Given the description of an element on the screen output the (x, y) to click on. 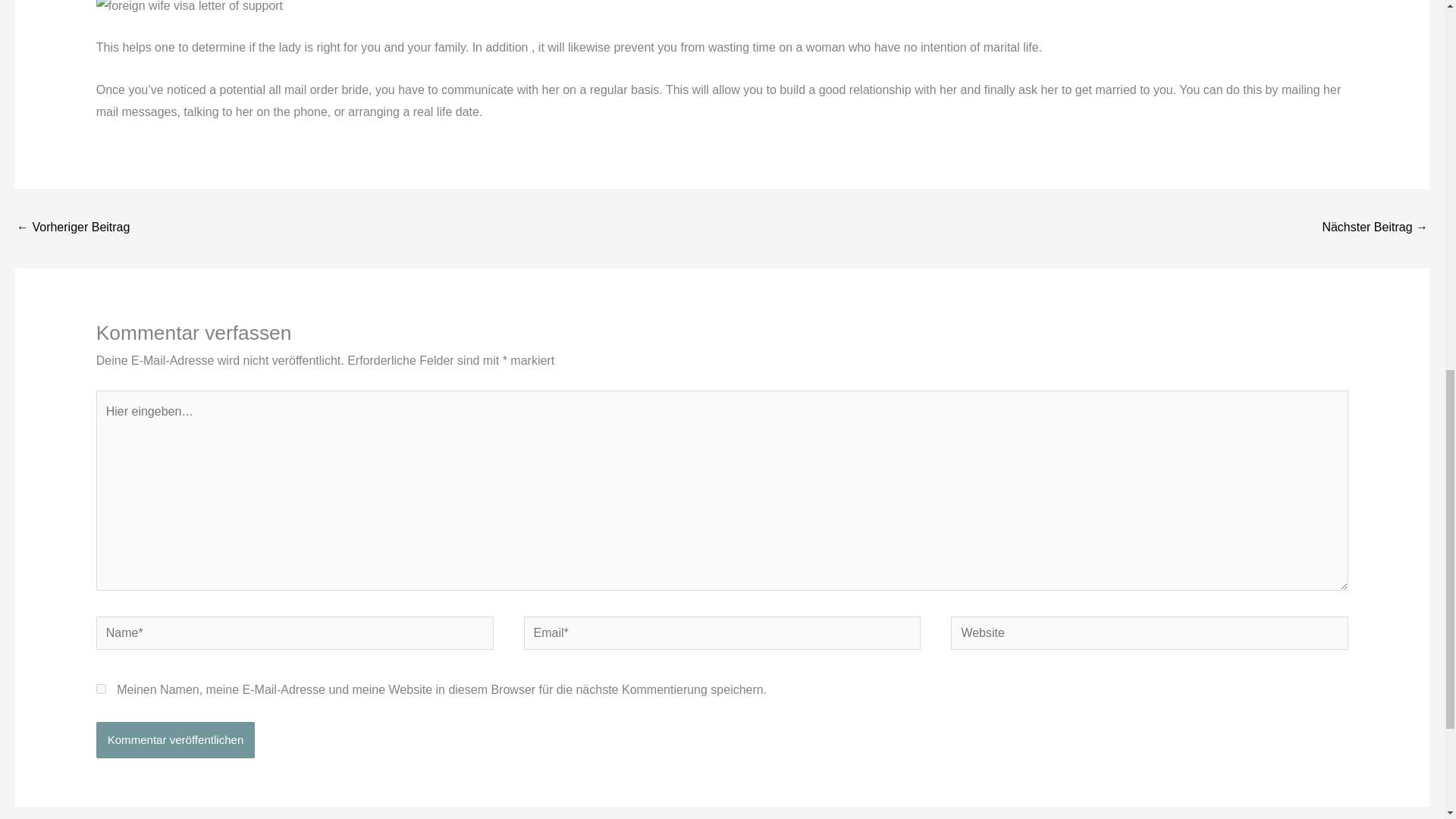
test (72, 228)
yes (101, 688)
Sexy Webcam Models (1375, 228)
